Given the description of an element on the screen output the (x, y) to click on. 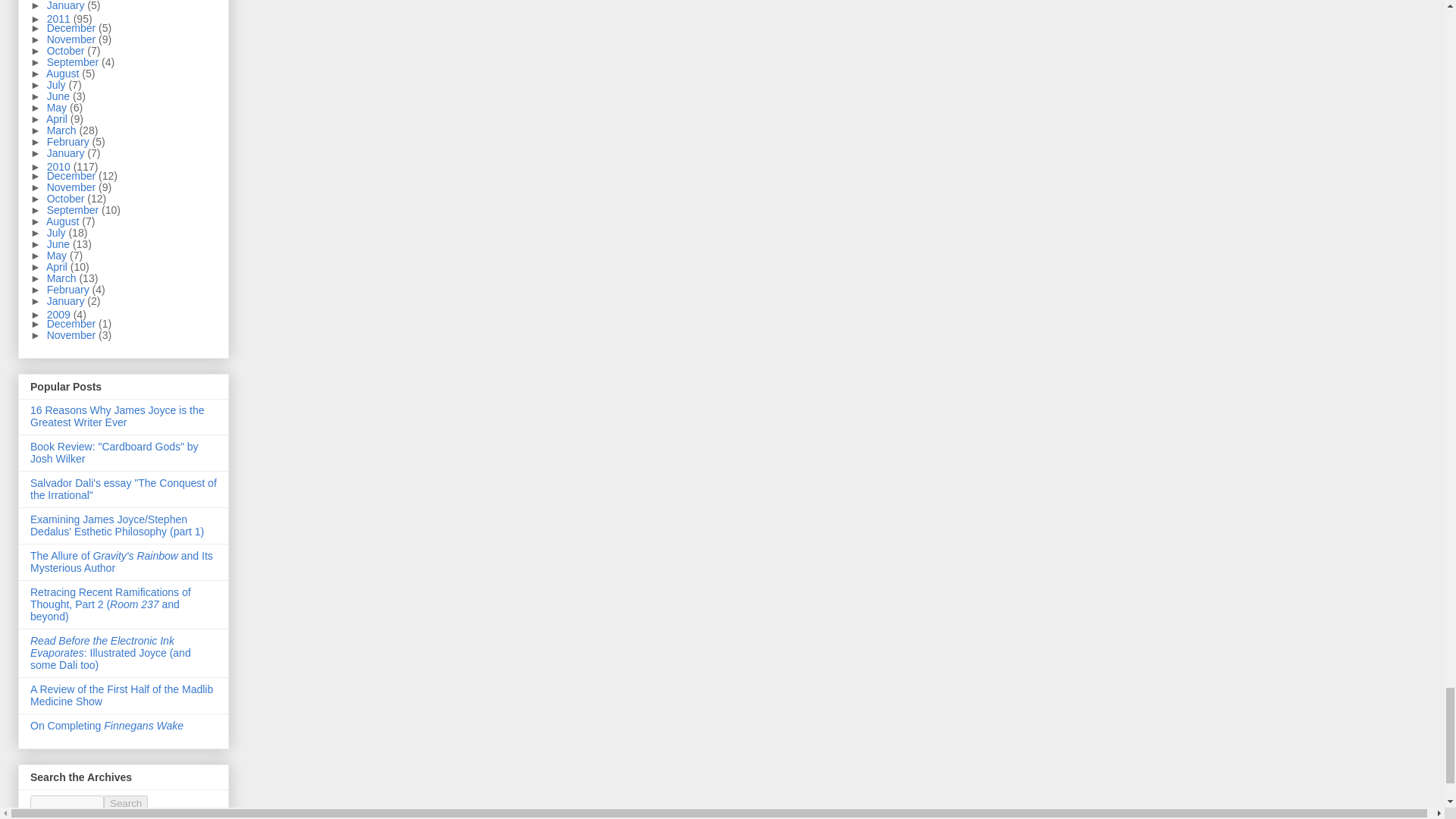
Search (125, 803)
search (66, 803)
Search (125, 803)
search (125, 803)
